Given the description of an element on the screen output the (x, y) to click on. 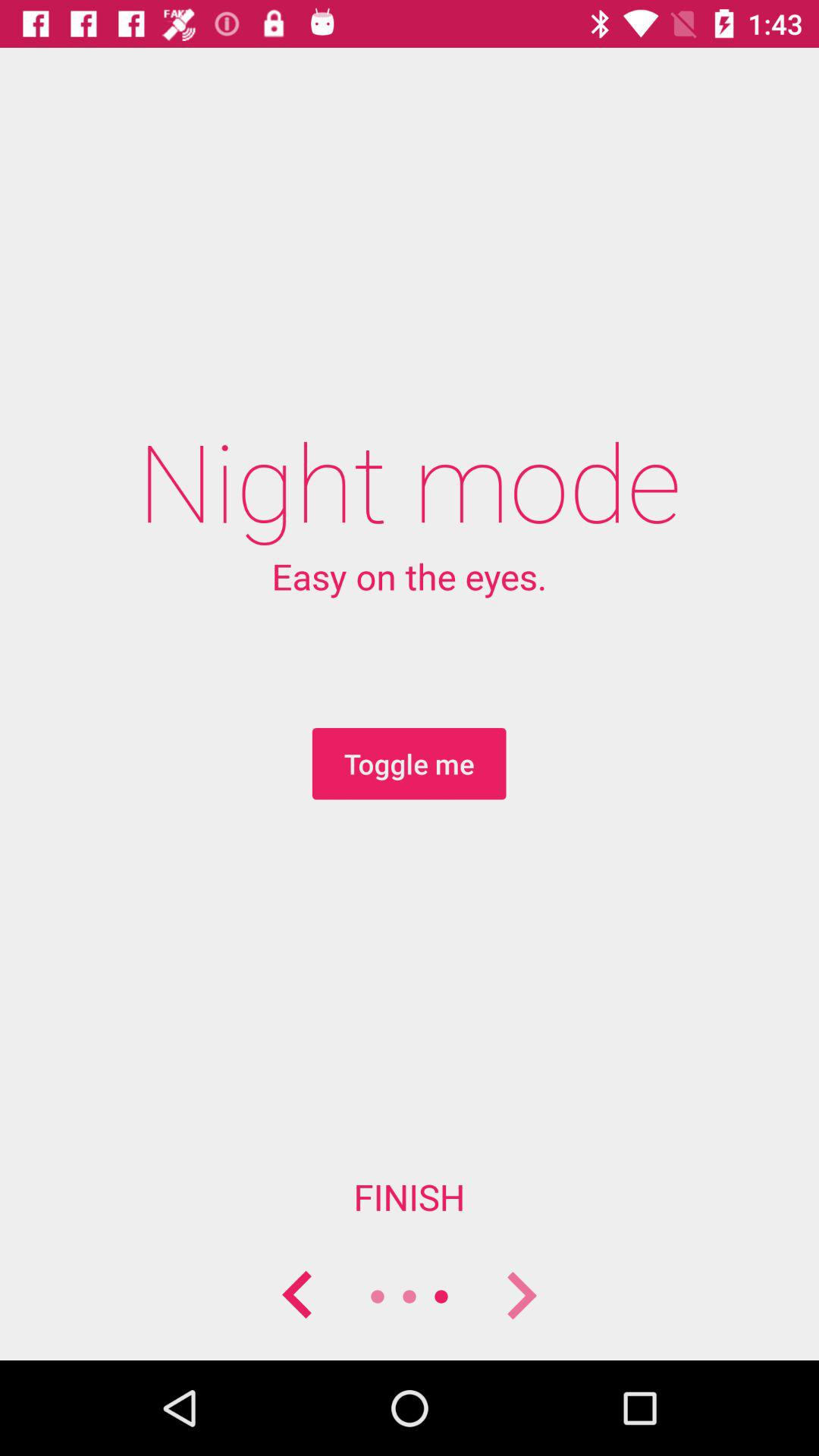
flip until toggle me item (409, 763)
